Given the description of an element on the screen output the (x, y) to click on. 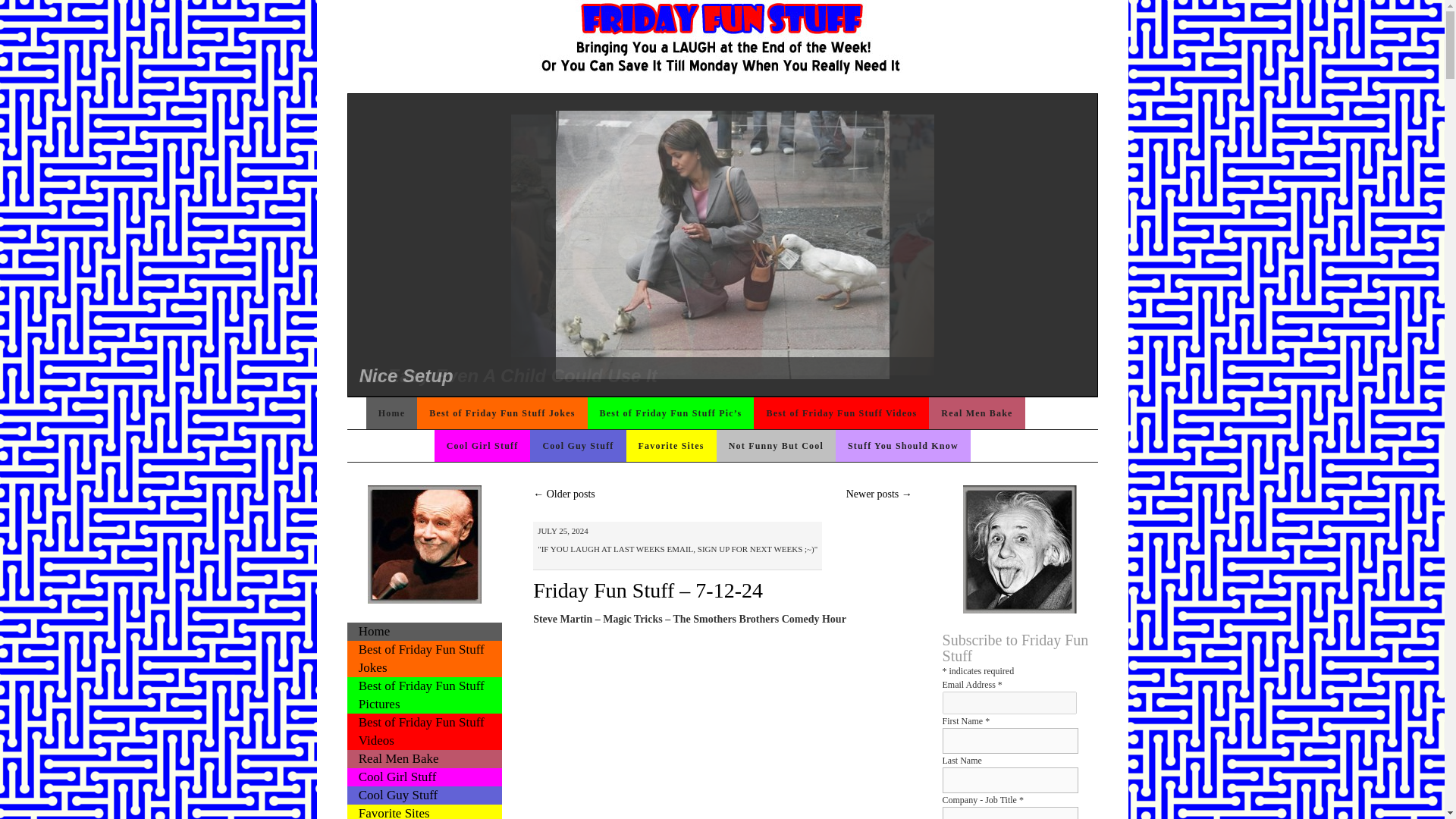
Cool Guy Stuff (577, 445)
Not Funny But Cool (775, 445)
Skip to content (420, 413)
Skip to content (420, 413)
Cool Girl Stuff (482, 445)
Favorite Sites (671, 445)
Skip to content (488, 445)
JULY 25, 2024 (562, 530)
Real Men Bake (976, 413)
Home (391, 413)
Stuff You Should Know (903, 445)
Best of Friday Fun Stuff Videos (841, 413)
Skip to content (488, 445)
Best of Friday Fun Stuff Jokes (501, 413)
